Given the description of an element on the screen output the (x, y) to click on. 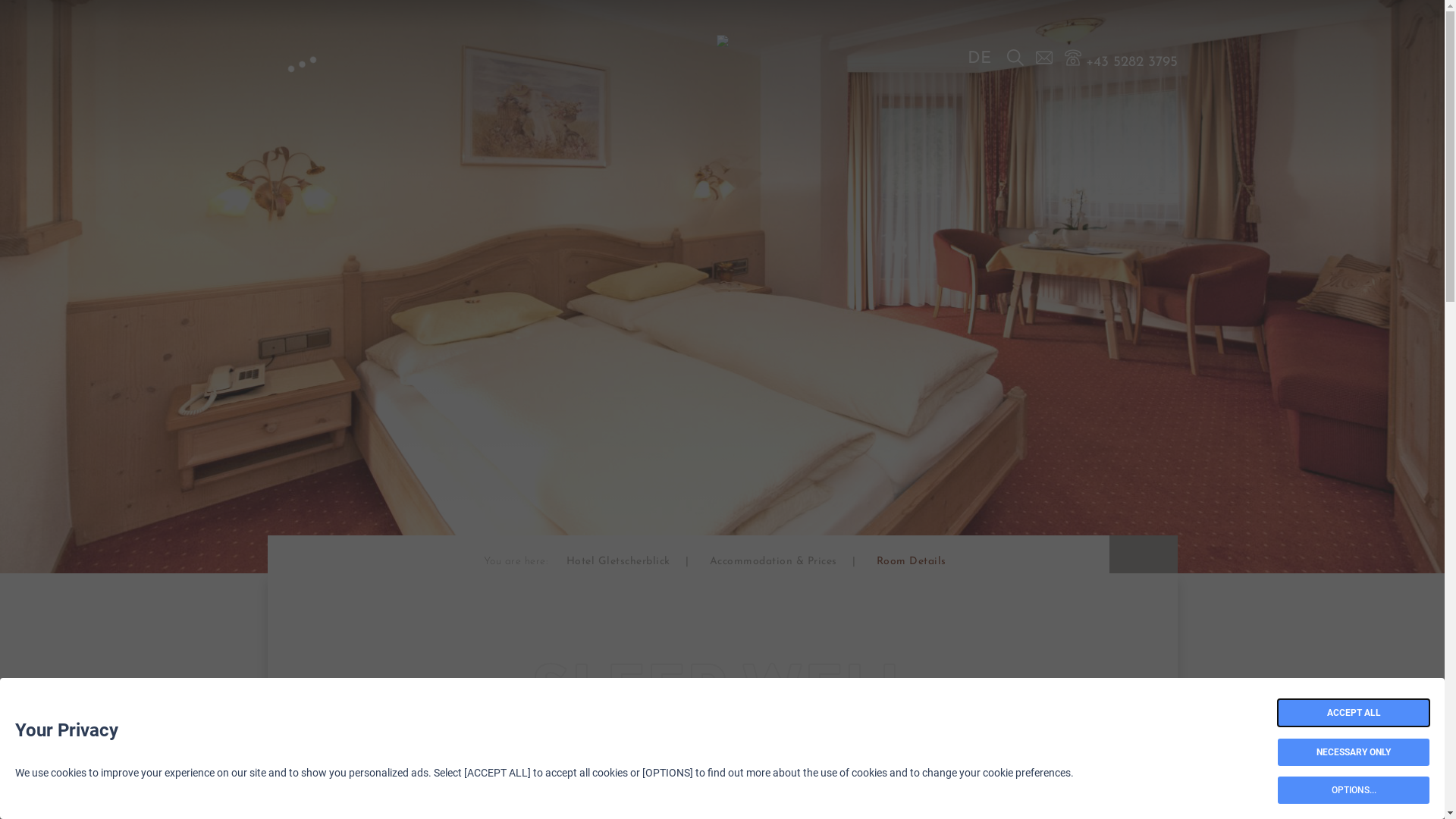
+43 5282 3795 Element type: text (1120, 57)
DE Element type: text (979, 58)
Accommodation & Prices Element type: text (773, 561)
NECESSARY ONLY Element type: text (1353, 751)
Hotel Gletscherblick Element type: text (617, 561)
Next Element type: text (1161, 554)
OPTIONS... Element type: text (1353, 789)
ACCEPT ALL Element type: text (1353, 712)
Previous Element type: text (1123, 554)
